Given the description of an element on the screen output the (x, y) to click on. 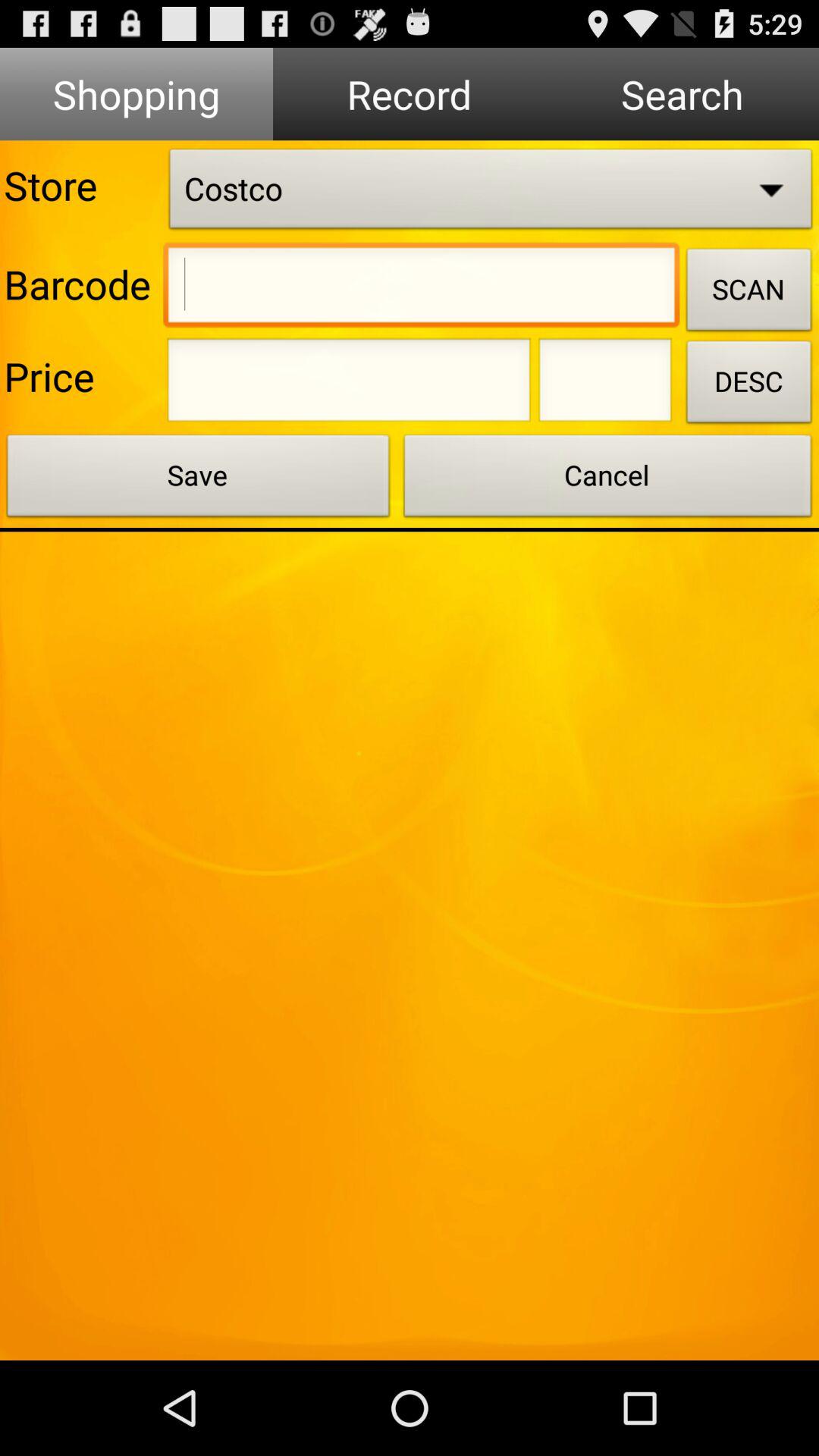
enter cents (604, 384)
